Given the description of an element on the screen output the (x, y) to click on. 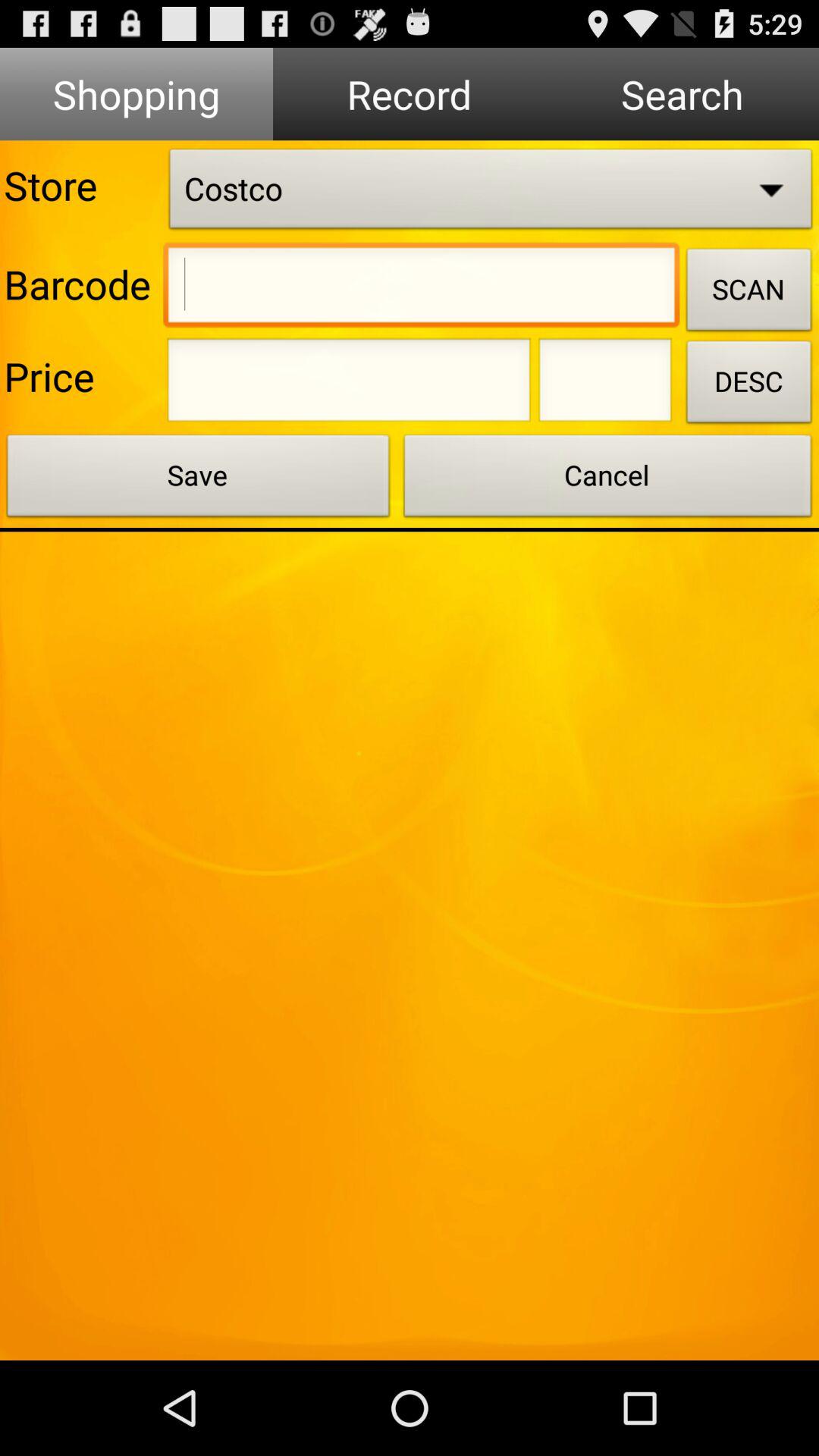
enter cents (604, 384)
